Given the description of an element on the screen output the (x, y) to click on. 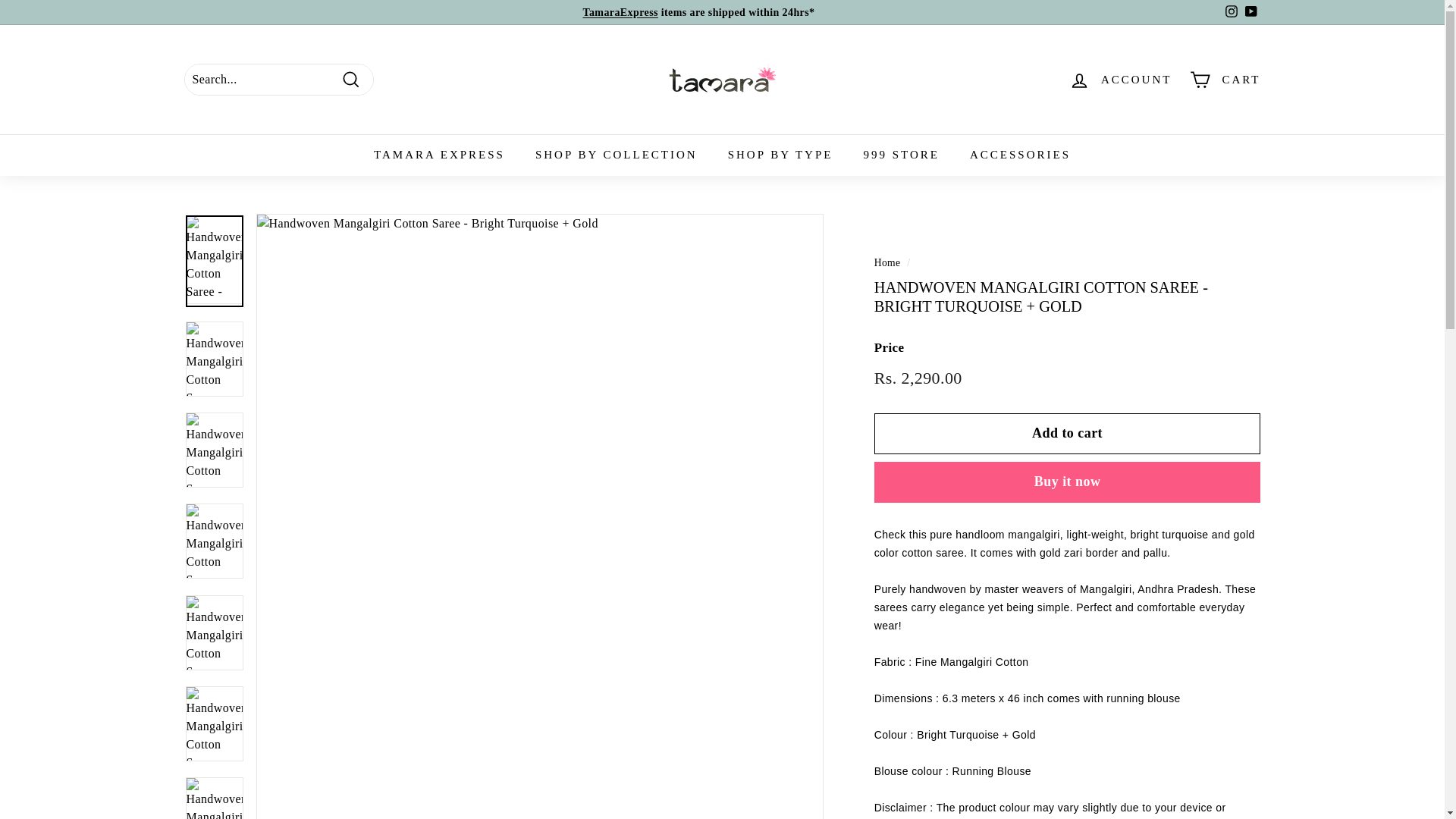
Back to the frontpage (888, 262)
TAMARA EXPRESS (620, 12)
SHOP BY TYPE (780, 155)
TAMARA EXPRESS (438, 155)
TamaraExpress (620, 12)
SHOP BY COLLECTION (616, 155)
ACCOUNT (1119, 79)
